Given the description of an element on the screen output the (x, y) to click on. 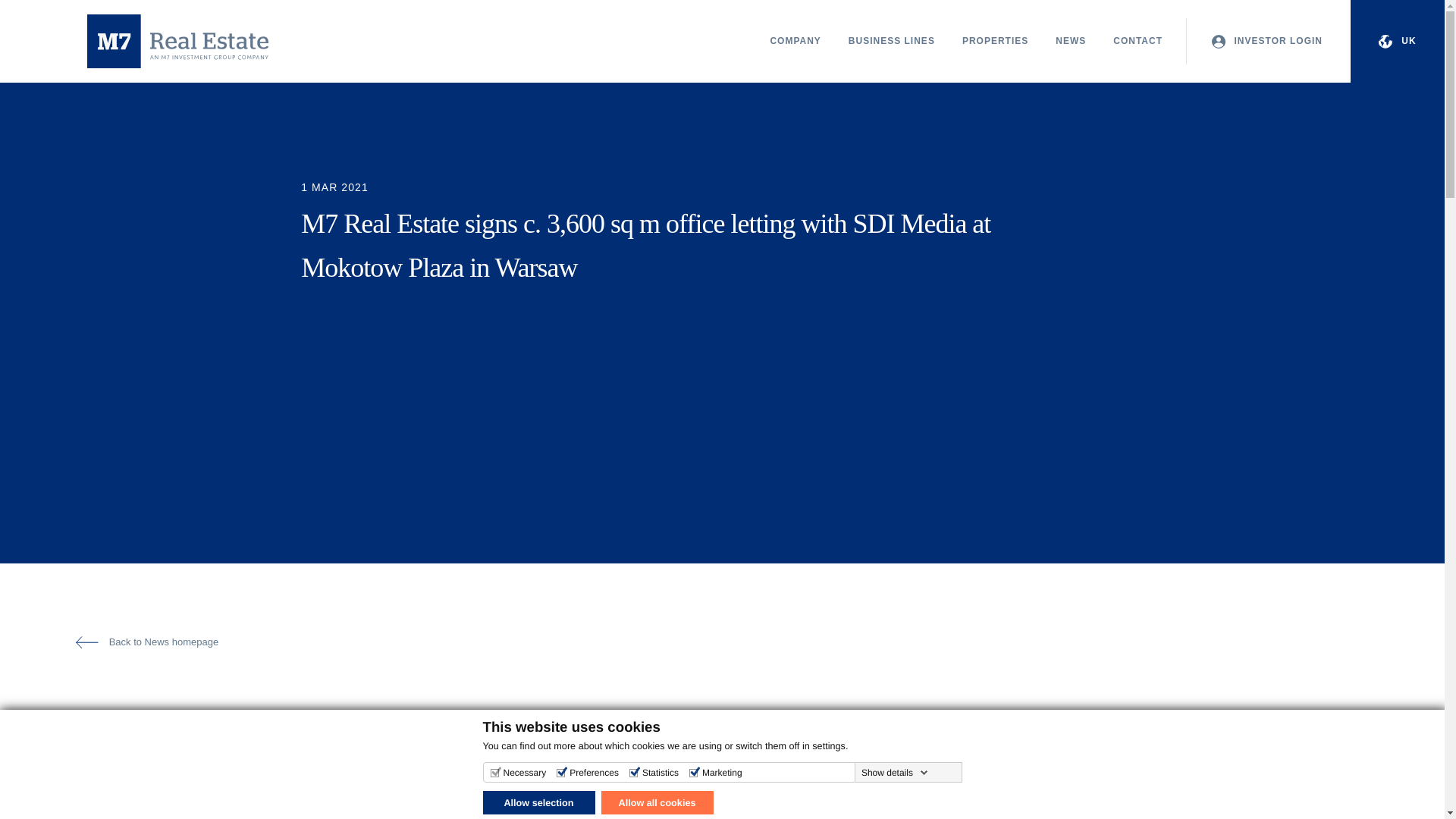
Show details (895, 772)
Allow all cookies (656, 802)
Allow selection (537, 802)
